Given the description of an element on the screen output the (x, y) to click on. 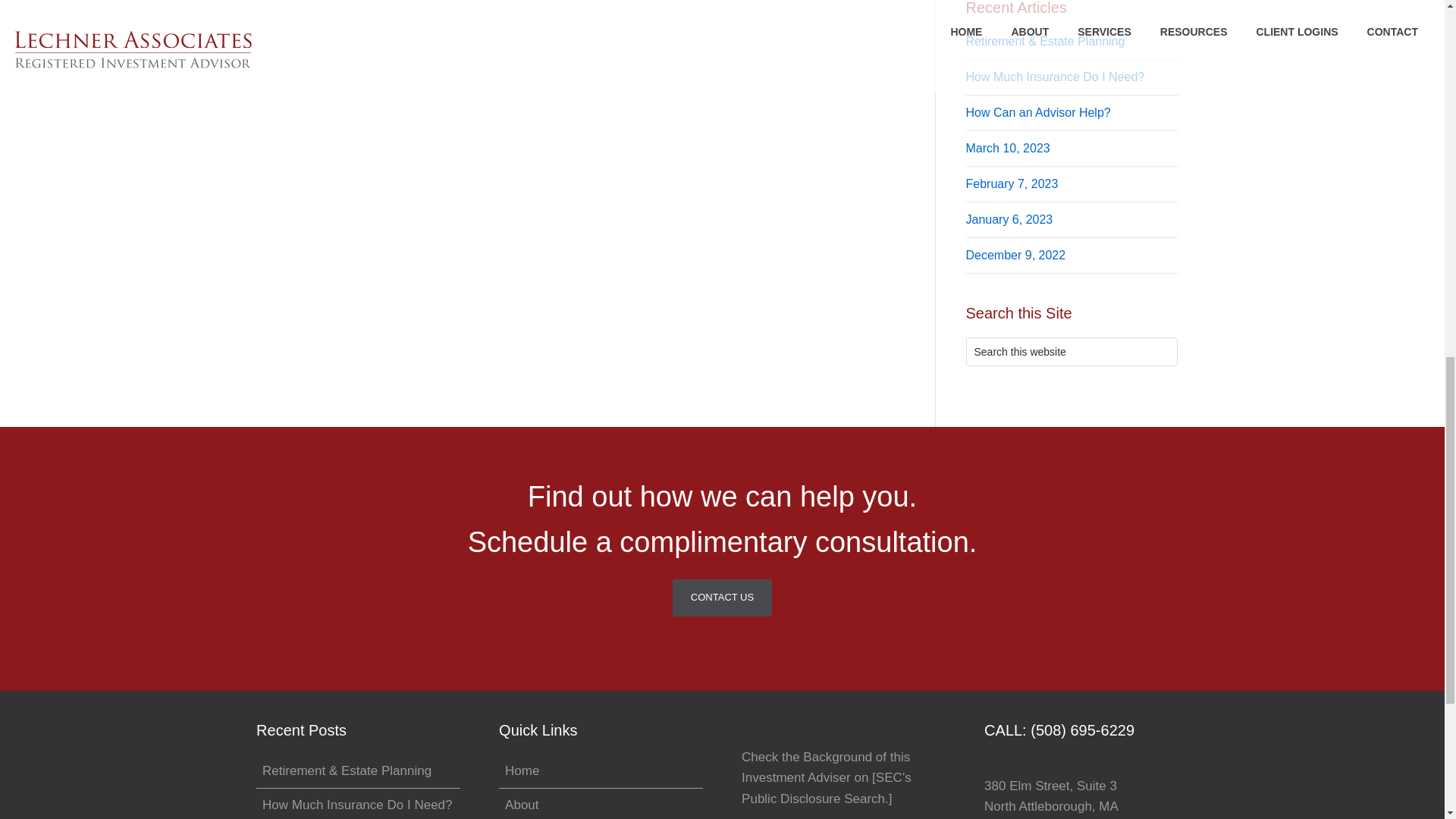
How Can an Advisor Help? (1038, 112)
December 9, 2022 (1015, 254)
About (521, 804)
How Much Insurance Do I Need? (356, 804)
January 6, 2023 (1009, 219)
CONTACT US (721, 597)
How Much Insurance Do I Need? (1055, 76)
